Given the description of an element on the screen output the (x, y) to click on. 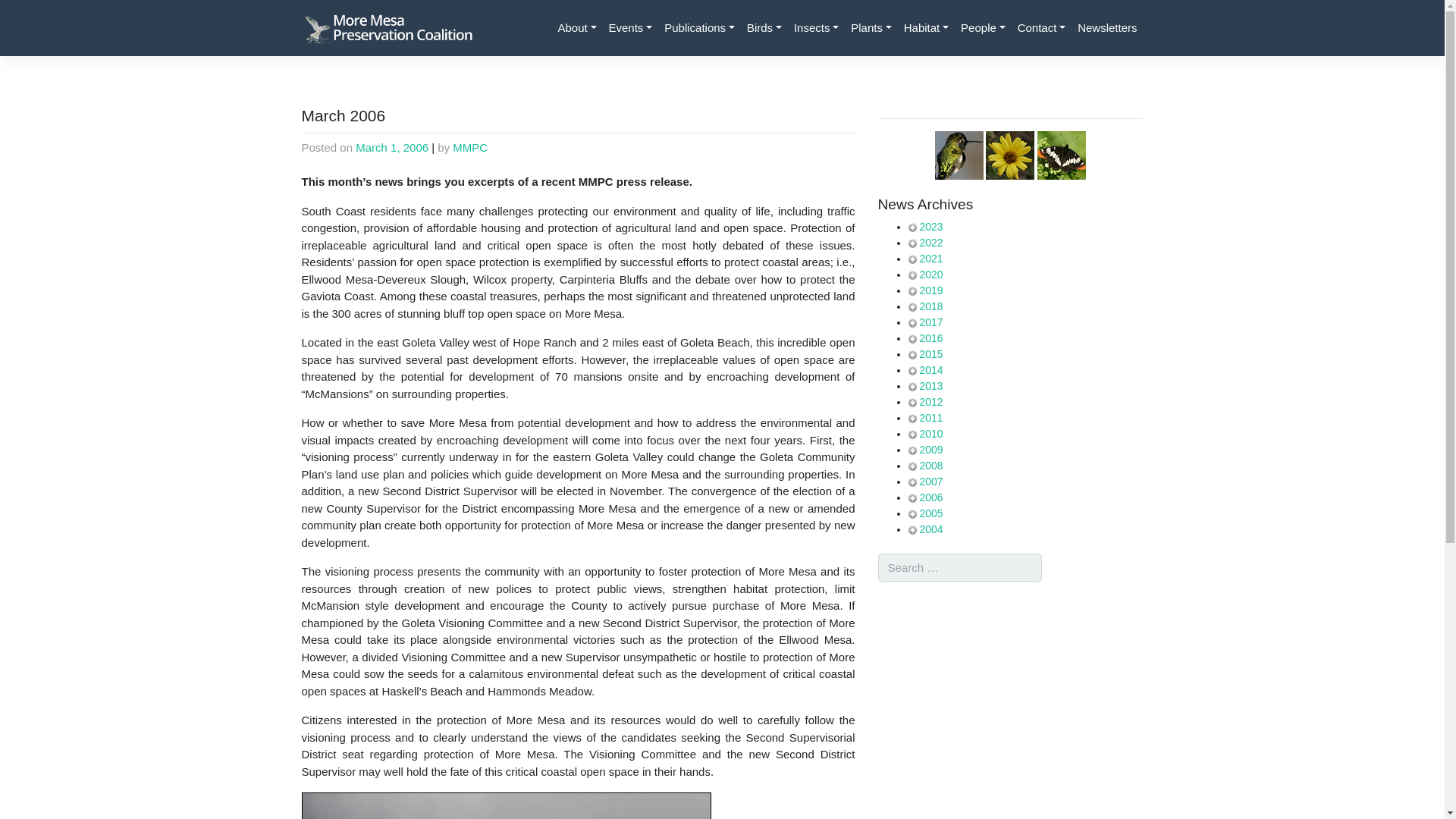
Publications (699, 28)
Birds (764, 28)
Insects (815, 28)
Events (630, 28)
About (576, 28)
About (576, 28)
Events (630, 28)
Publications (699, 28)
Habitat (926, 28)
Plants (871, 28)
People (983, 28)
